Given the description of an element on the screen output the (x, y) to click on. 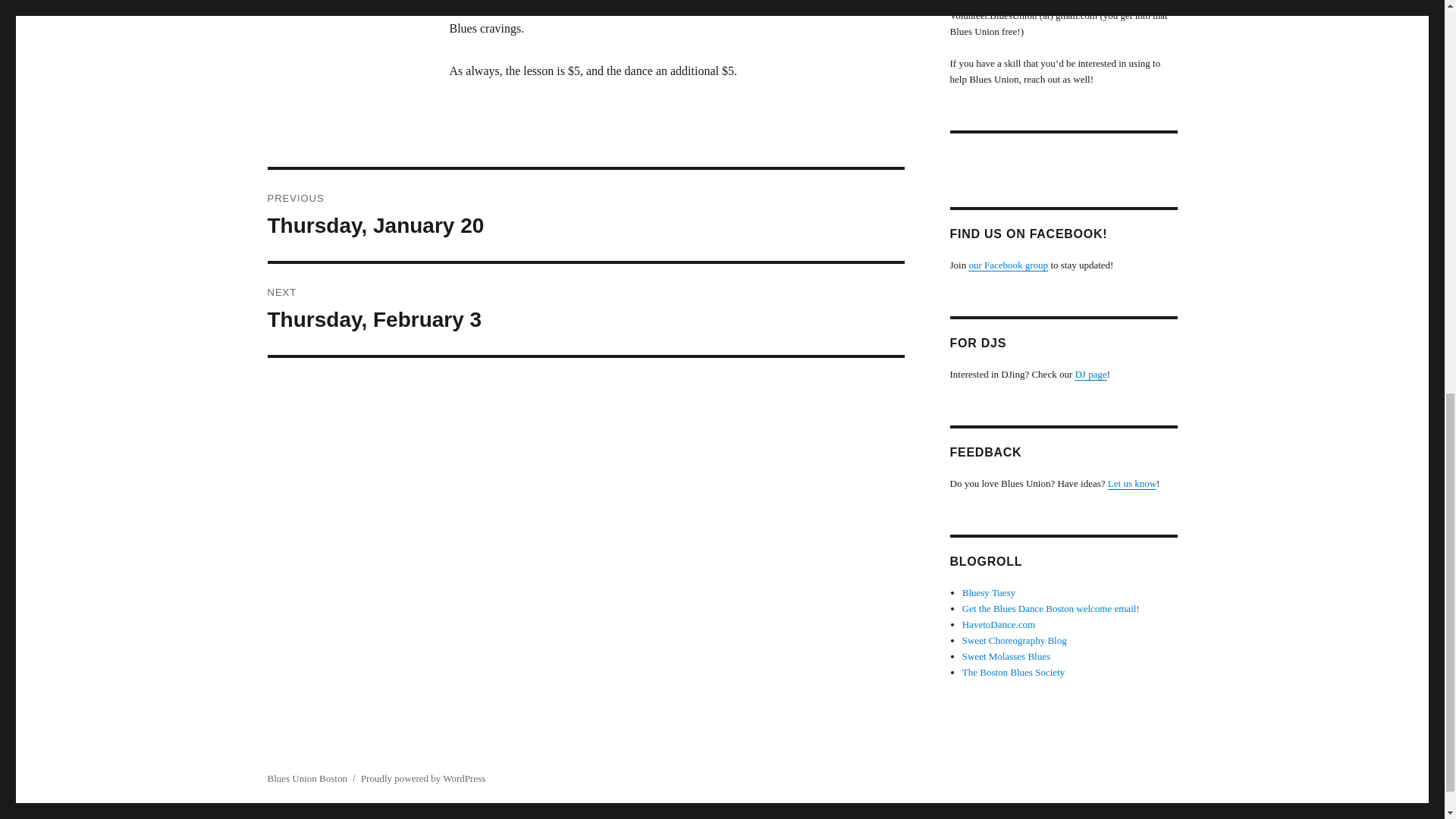
Sweet Choreography Blog (1014, 640)
our Facebook group (1008, 265)
Bluesy Tuesy (988, 592)
Let us know (1132, 482)
DJ page (1090, 374)
The Boston Blues Society (1013, 672)
Get the Blues Dance Boston welcome email! (1051, 608)
